Given the description of an element on the screen output the (x, y) to click on. 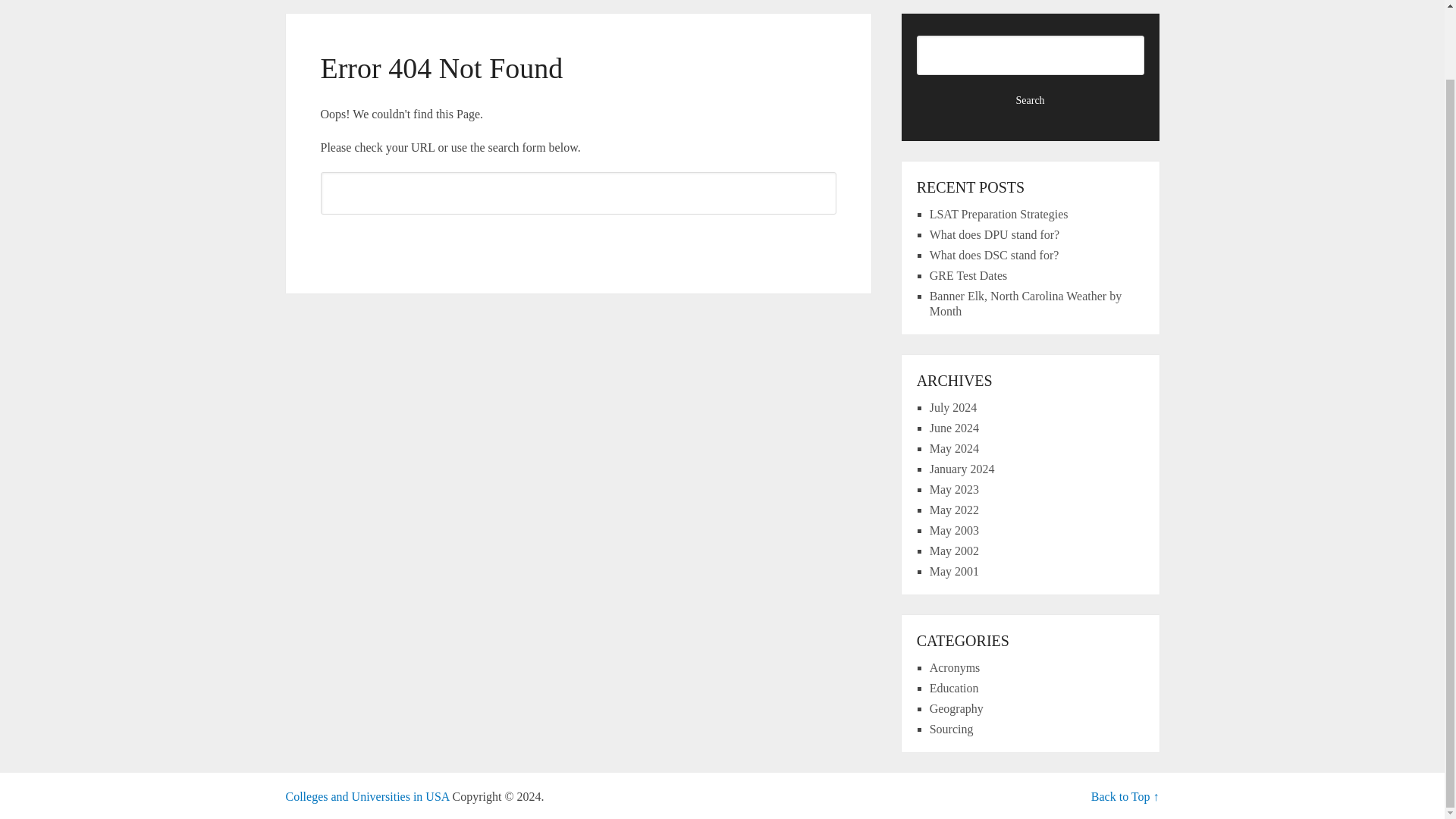
May 2003 (954, 530)
Search (1030, 100)
Acronyms (954, 667)
What does DSC stand for? (994, 254)
Education (954, 687)
Search (577, 239)
GRE Test Dates (968, 275)
June 2024 (954, 427)
Banner Elk, North Carolina Weather by Month (1025, 303)
July 2024 (953, 407)
Search (577, 239)
May 2002 (954, 550)
What does DPU stand for? (994, 234)
May 2024 (954, 448)
Colleges and Universities in USA (366, 796)
